Given the description of an element on the screen output the (x, y) to click on. 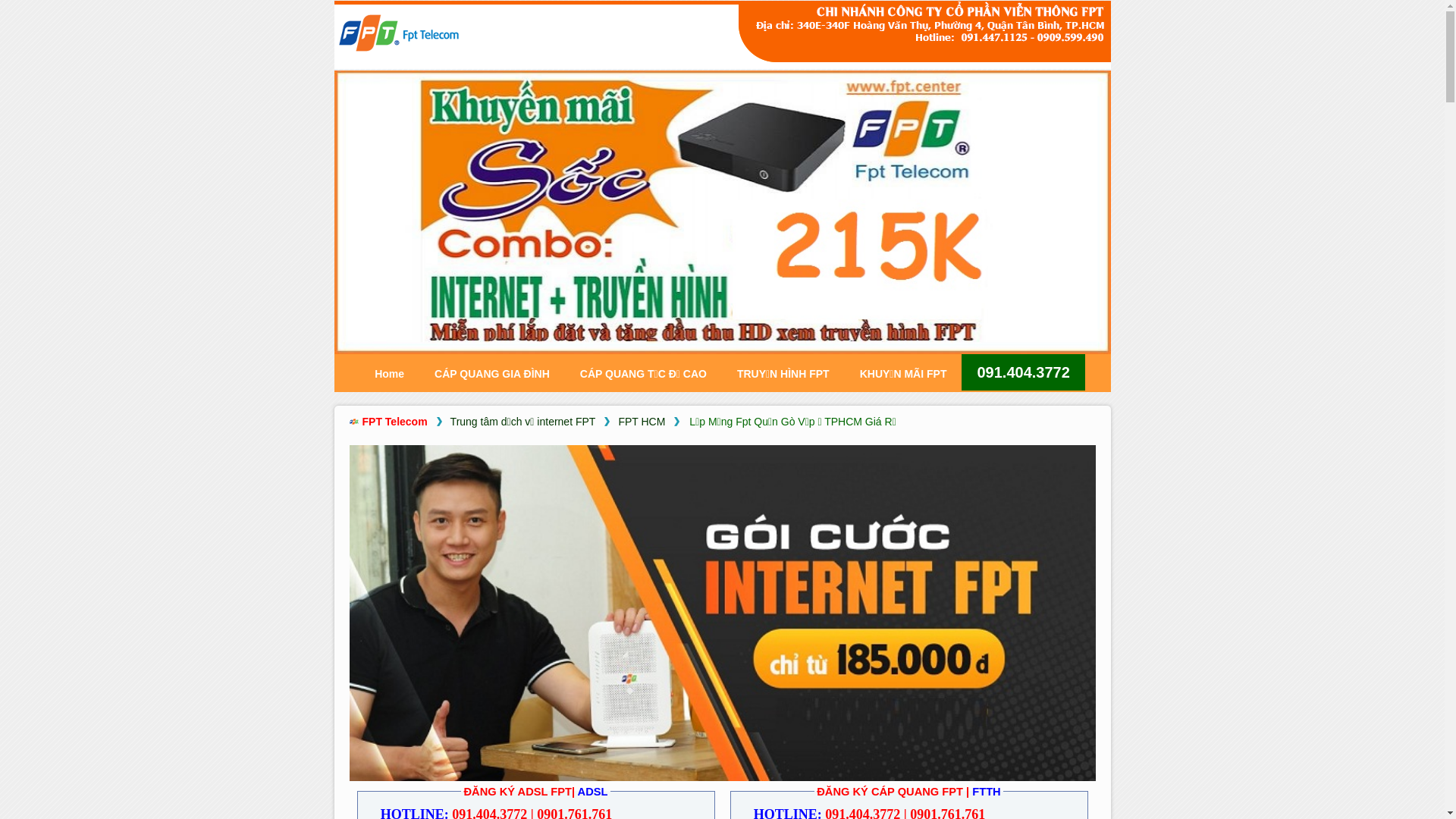
FPT HCM Element type: text (641, 421)
091.404.3772 Element type: text (1022, 372)
FPT Telecom Element type: text (393, 421)
Home Element type: text (389, 373)
